Given the description of an element on the screen output the (x, y) to click on. 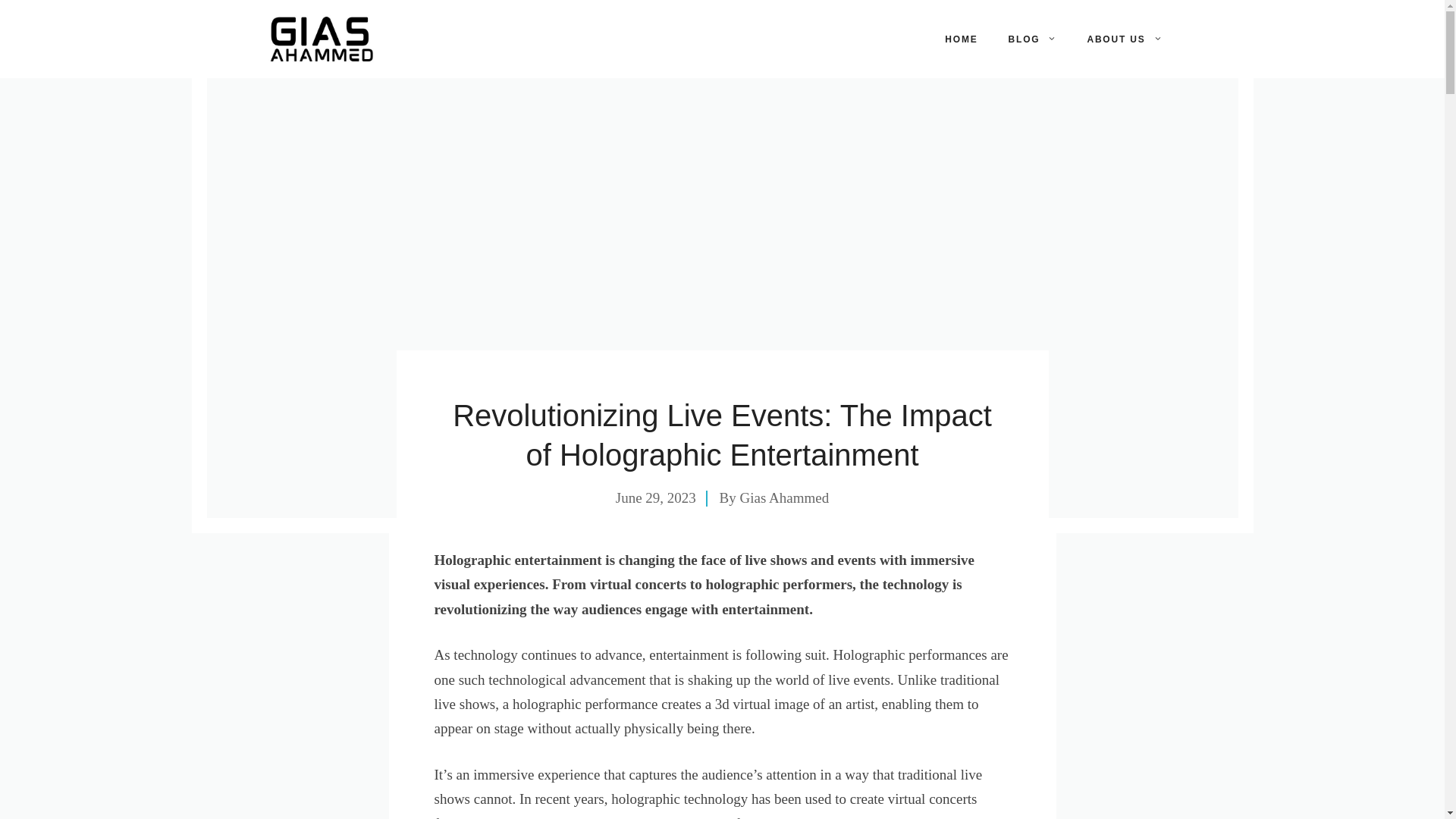
Gias Ahammed (784, 497)
HOME (961, 39)
ABOUT US (1123, 39)
BLOG (1031, 39)
